Given the description of an element on the screen output the (x, y) to click on. 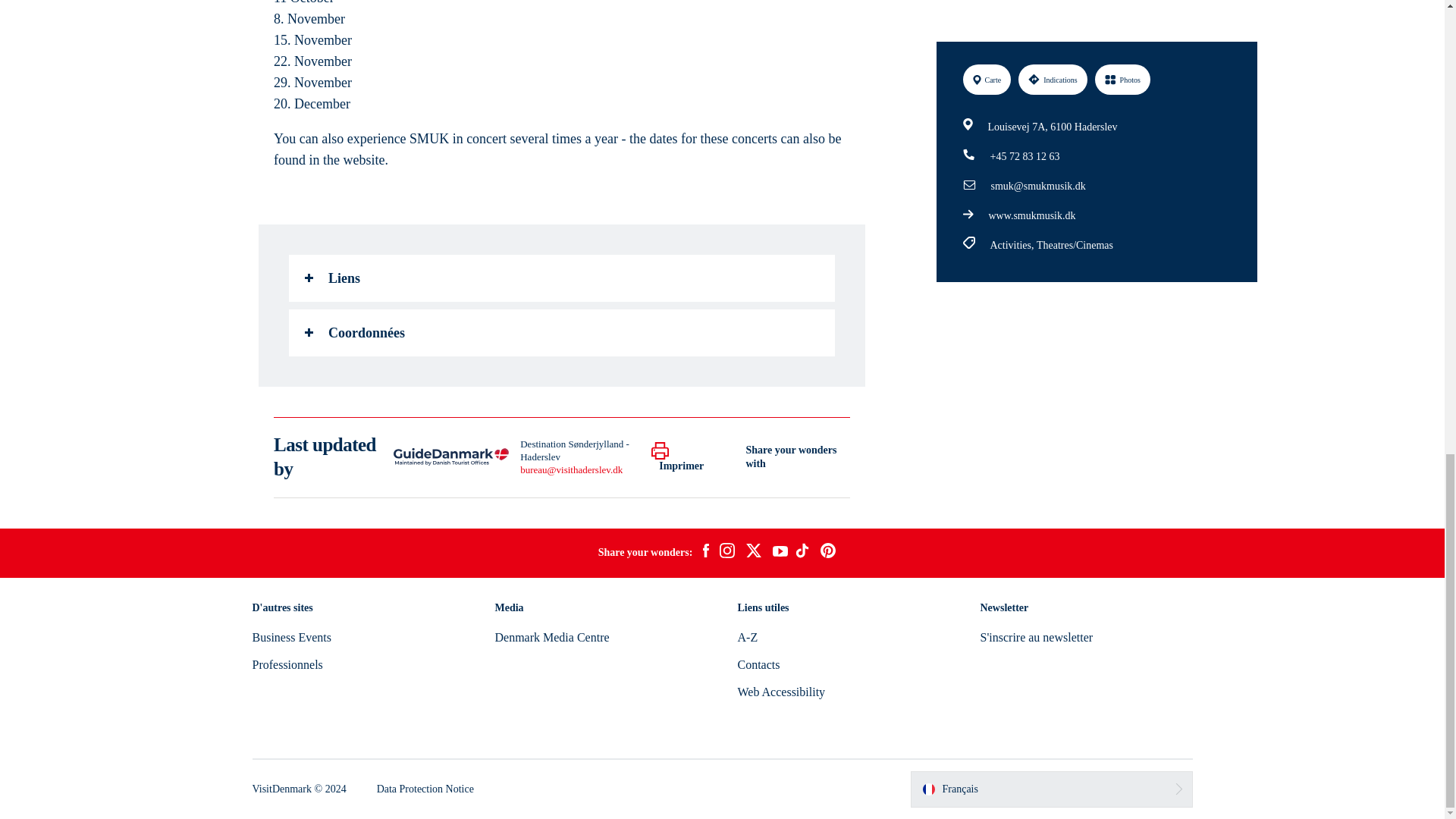
Professionnels (286, 664)
Web Accessibility (780, 691)
twitter (753, 552)
Liens (561, 278)
Business Events (290, 636)
Business Events (290, 636)
Denmark Media Centre (551, 636)
tiktok (804, 552)
A-Z (746, 636)
Data Protection Notice (425, 789)
